Given the description of an element on the screen output the (x, y) to click on. 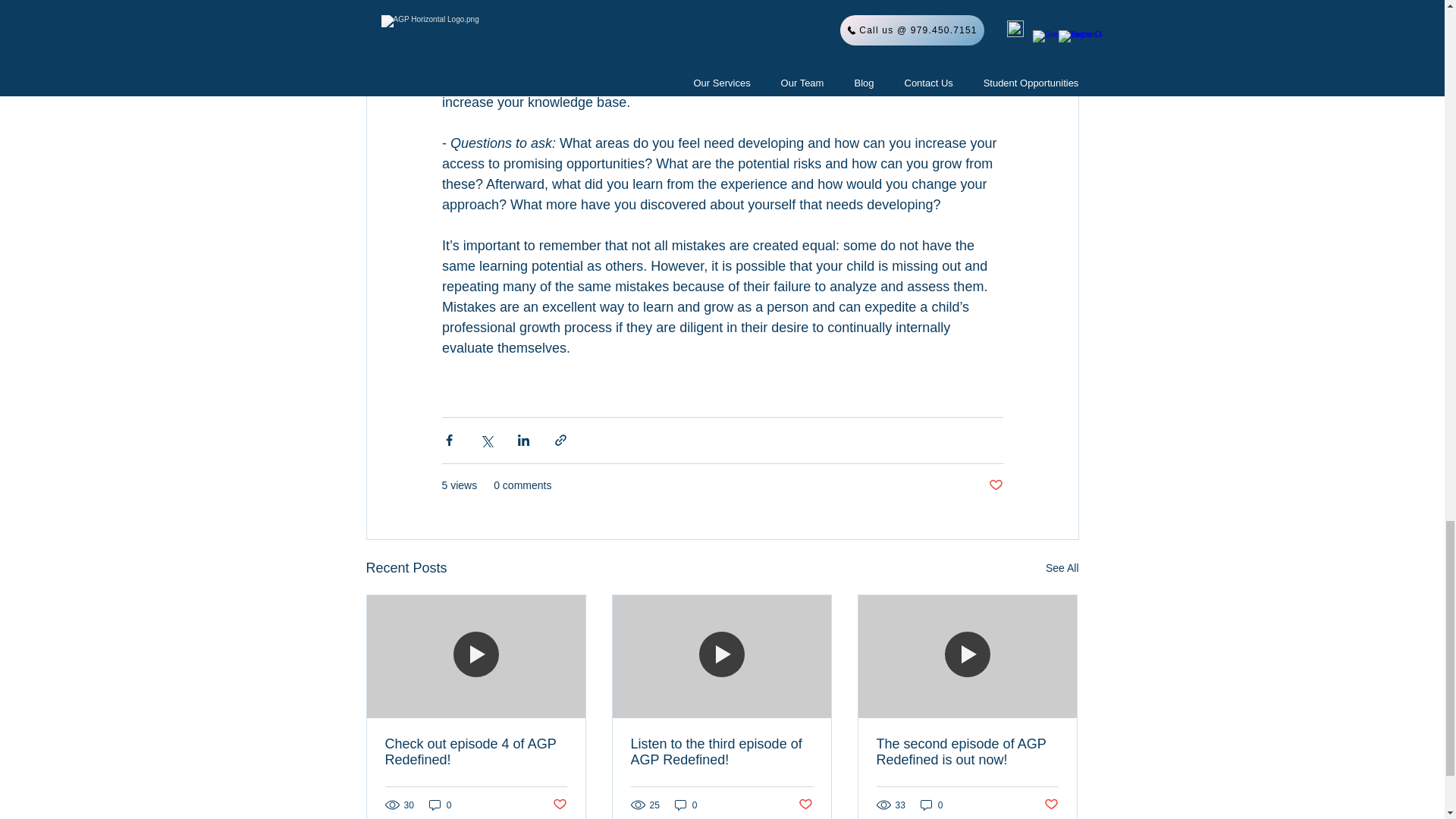
The second episode of AGP Redefined is out now! (967, 752)
See All (1061, 568)
Post not marked as liked (804, 804)
Post not marked as liked (1050, 804)
Post not marked as liked (995, 485)
0 (685, 804)
Post not marked as liked (558, 804)
Check out episode 4 of AGP Redefined! (476, 752)
Listen to the third episode of AGP Redefined! (721, 752)
0 (931, 804)
0 (440, 804)
